Given the description of an element on the screen output the (x, y) to click on. 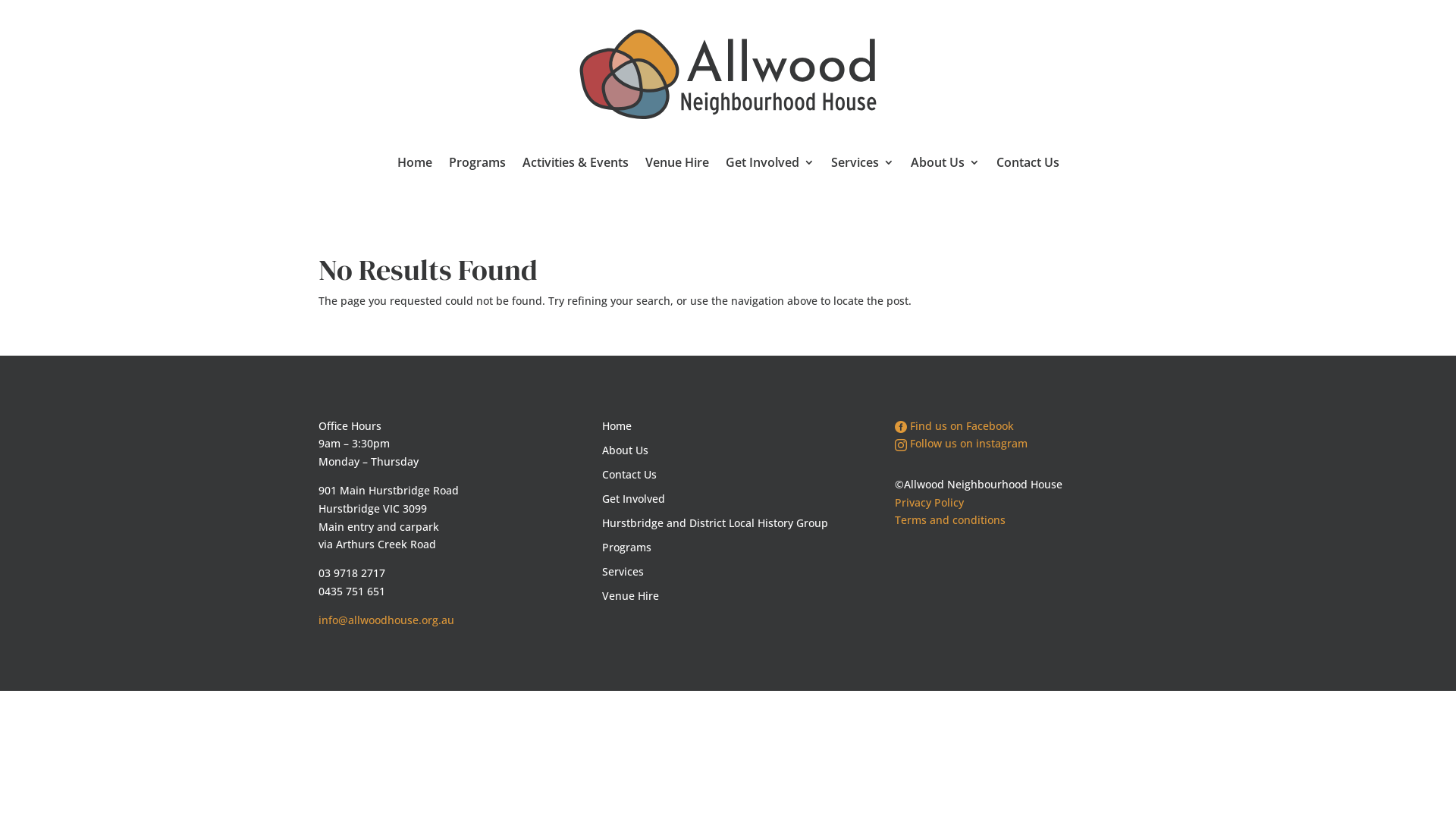
About Us Element type: text (727, 450)
Programs Element type: text (727, 547)
Activities & Events Element type: text (574, 164)
Programs Element type: text (476, 164)
Home Element type: text (414, 164)
Home Element type: text (727, 426)
Services Element type: text (727, 571)
About Us Element type: text (944, 164)
Contact Us Element type: text (1027, 164)
info@allwoodhouse.org.au Element type: text (386, 619)
Services Element type: text (862, 164)
allwood-logo Element type: hover (727, 74)
Venue Hire Element type: text (727, 595)
Get Involved Element type: text (727, 498)
Terms and conditions Element type: text (949, 519)
Hurstbridge and District Local History Group Element type: text (727, 523)
Contact Us Element type: text (727, 474)
Venue Hire Element type: text (676, 164)
Privacy Policy Element type: text (928, 502)
Get Involved Element type: text (768, 164)
